Given the description of an element on the screen output the (x, y) to click on. 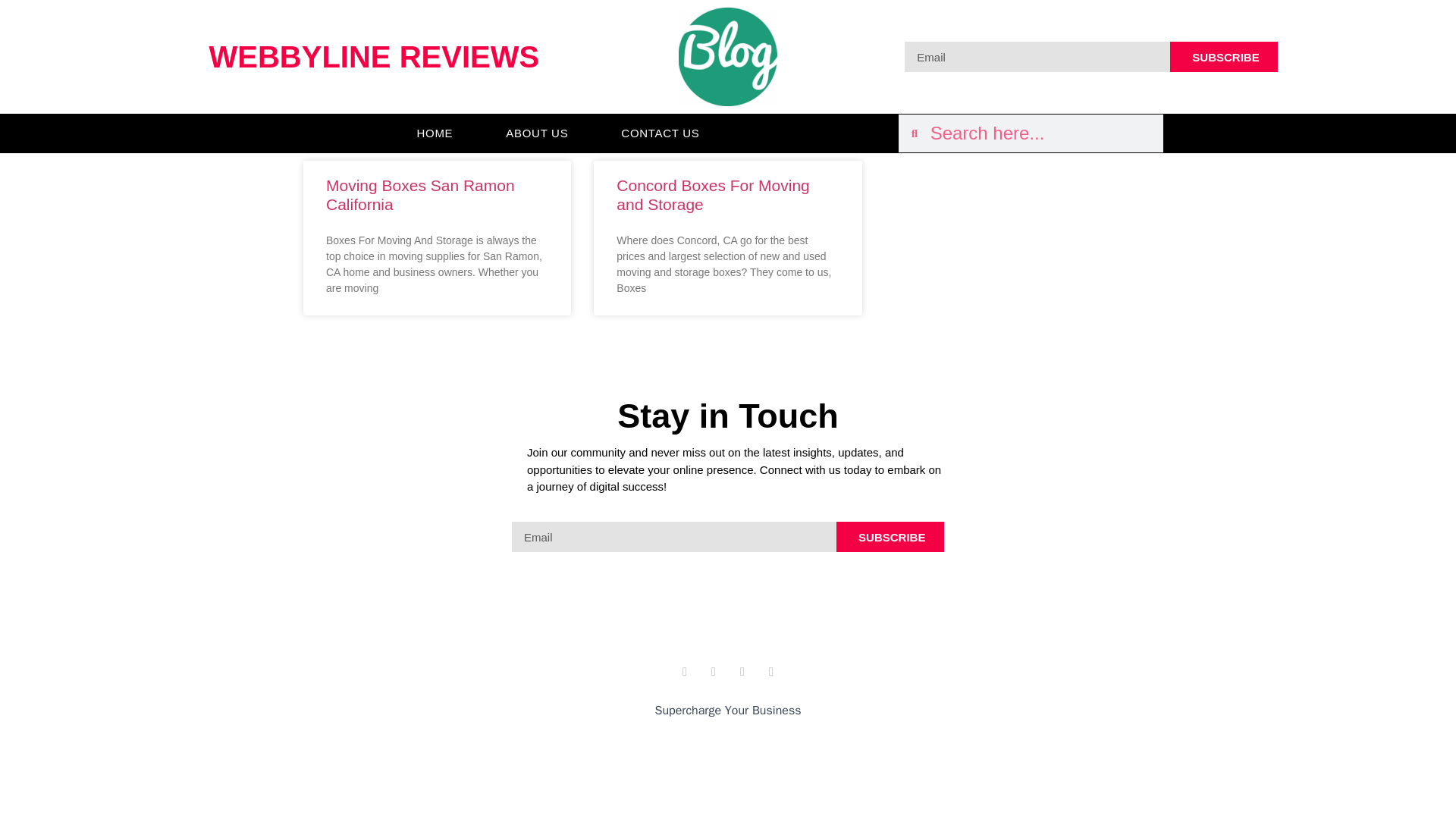
SUBSCRIBE (1223, 56)
CONTACT US (660, 133)
HOME (435, 133)
WEBBYLINE REVIEWS (374, 56)
Moving Boxes San Ramon California (420, 194)
ABOUT US (537, 133)
Concord Boxes For Moving and Storage (712, 194)
cropped-blog-image.png (727, 56)
SUBSCRIBE (889, 536)
